Given the description of an element on the screen output the (x, y) to click on. 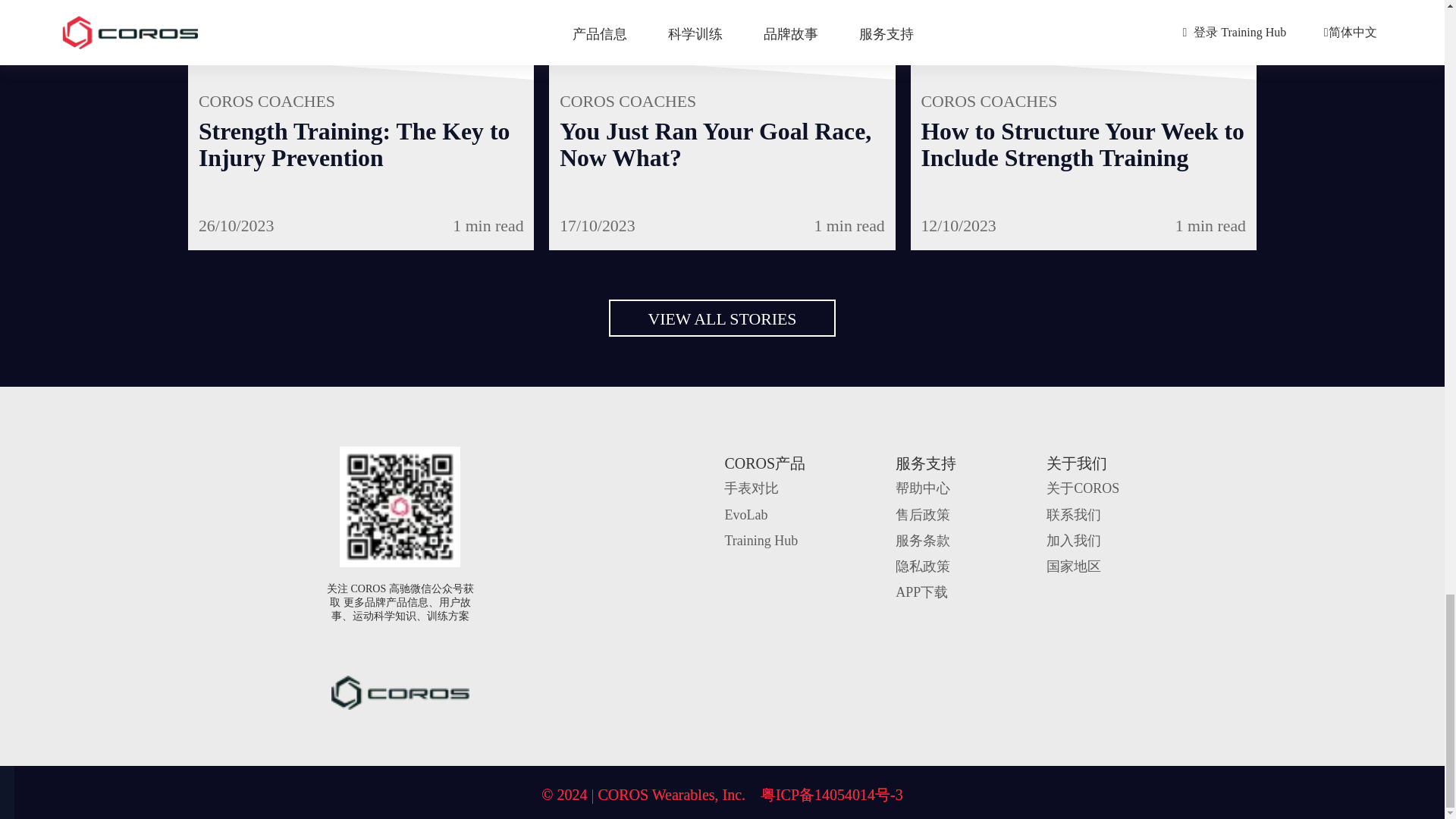
VIEW ALL STORIES (721, 318)
EvoLab (745, 513)
Training Hub (760, 540)
